Given the description of an element on the screen output the (x, y) to click on. 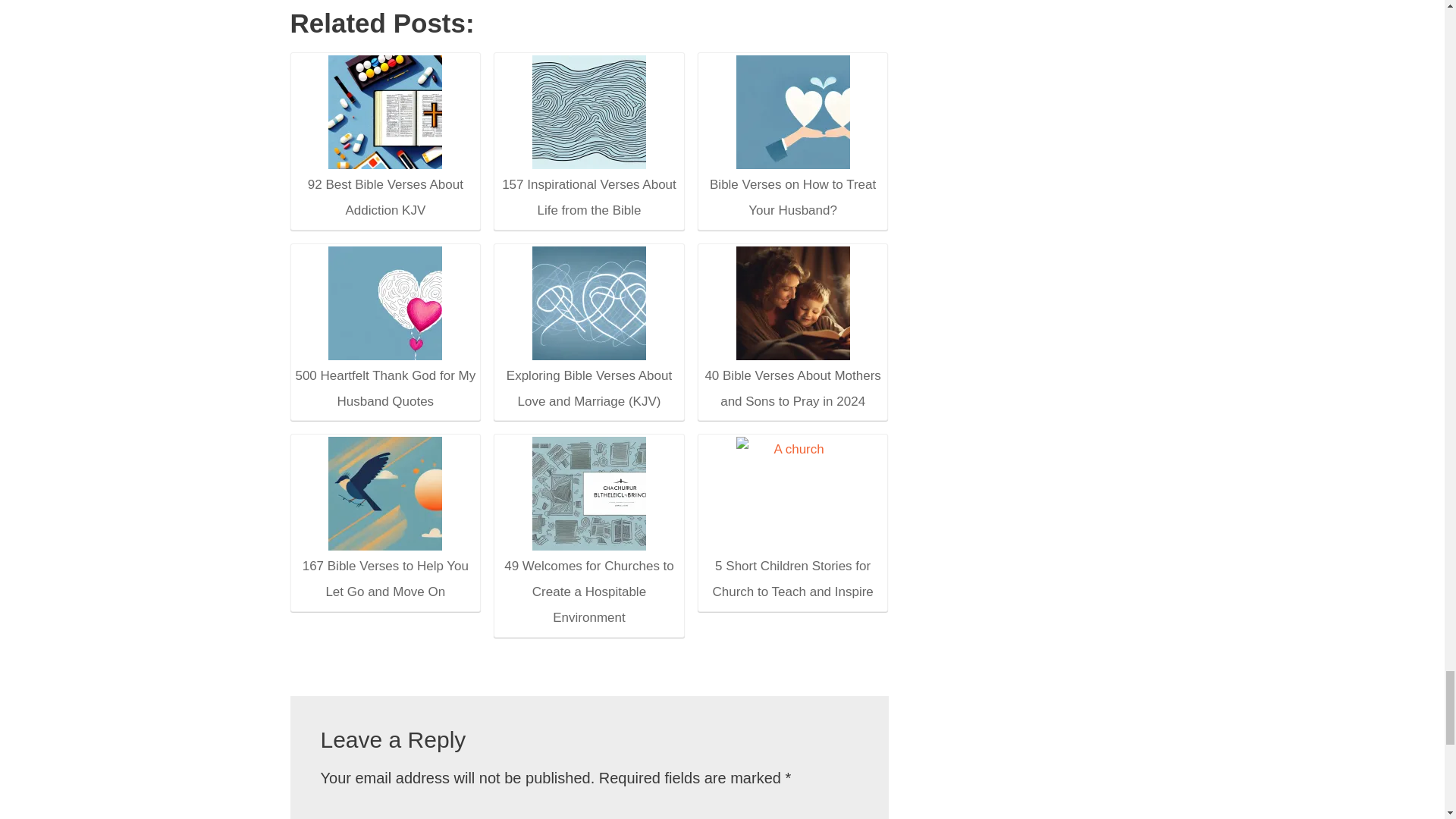
500 Heartfelt Thank God for My Husband Quotes (385, 302)
157 Inspirational Verses About Life from the Bible (589, 111)
40 Bible Verses About Mothers and Sons to Pray in 2024 (793, 302)
5 Short Children Stories for Church to Teach and Inspire (793, 493)
500 Heartfelt Thank God for My Husband Quotes (384, 329)
5 Short Children Stories for Church to Teach and Inspire (792, 520)
92 Best Bible Verses About Addiction KJV (385, 111)
Bible Verses on How to Treat Your Husband? (793, 111)
49 Welcomes for Churches to Create a Hospitable Environment (589, 493)
92 Best Bible Verses About Addiction KJV (384, 139)
